Given the description of an element on the screen output the (x, y) to click on. 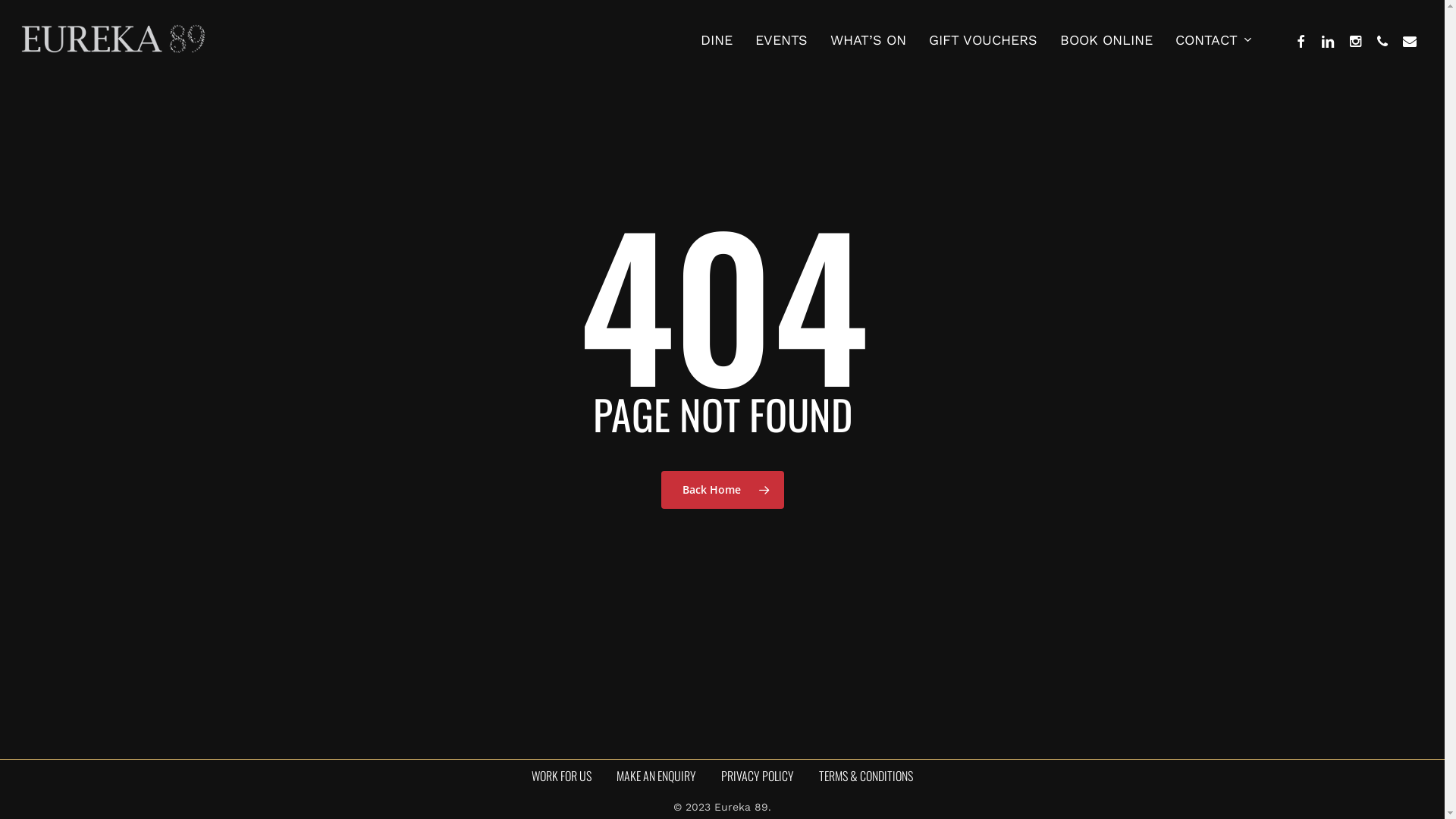
GIFT VOUCHERS Element type: text (982, 40)
CONTACT Element type: text (1213, 40)
EVENTS Element type: text (781, 40)
INSTAGRAM Element type: text (1354, 40)
FACEBOOK Element type: text (1300, 40)
LINKEDIN Element type: text (1327, 40)
PRIVACY POLICY Element type: text (757, 775)
MAKE AN ENQUIRY Element type: text (656, 775)
BOOK ONLINE Element type: text (1106, 40)
Back Home Element type: text (722, 489)
EMAIL Element type: text (1409, 40)
DINE Element type: text (716, 40)
PHONE Element type: text (1382, 40)
WORK FOR US Element type: text (561, 775)
TERMS & CONDITIONS Element type: text (866, 775)
